Given the description of an element on the screen output the (x, y) to click on. 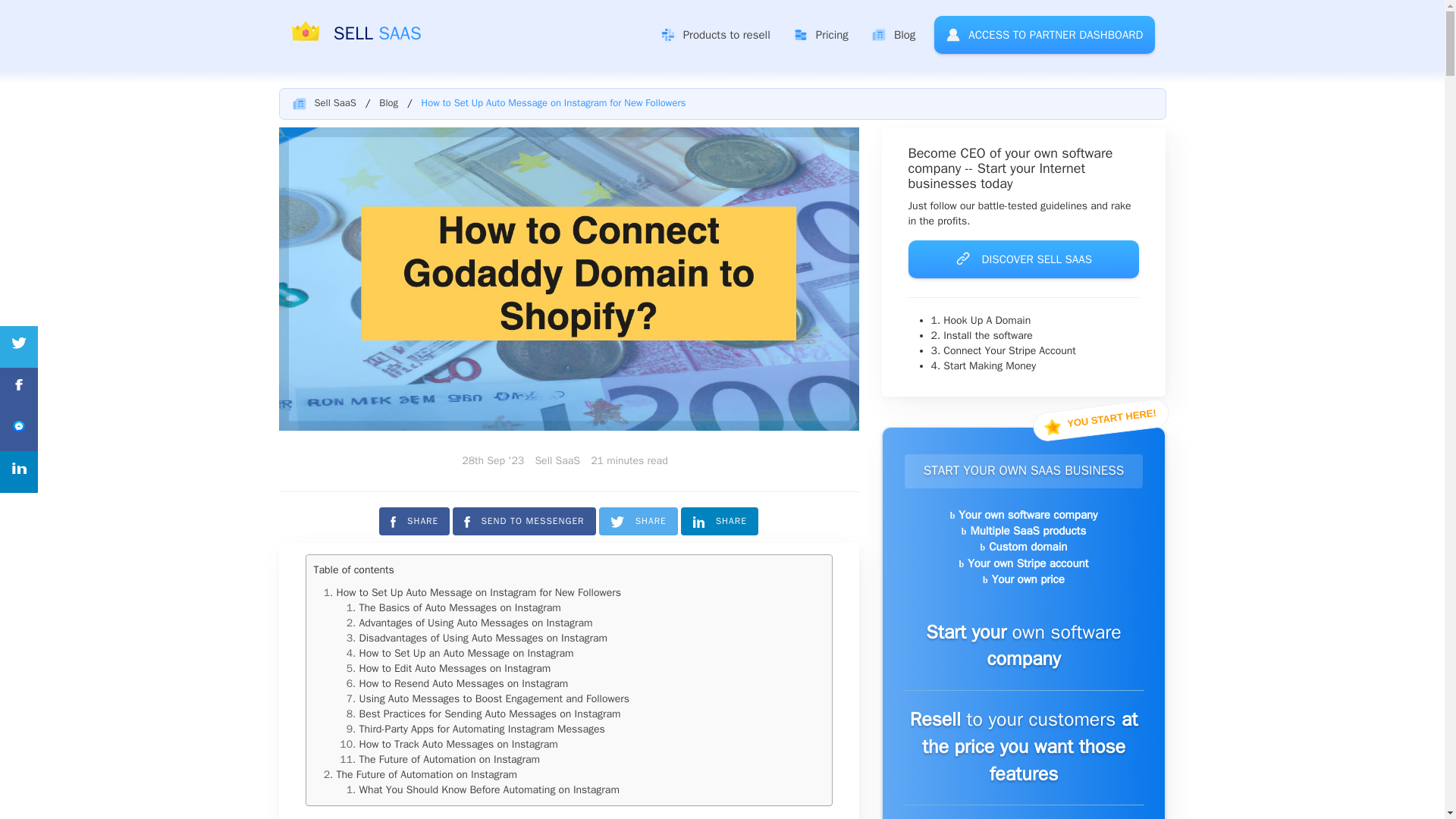
The Future of Automation on Instagram (449, 758)
Advantages of Using Auto Messages on Instagram (475, 622)
How to Edit Auto Messages on Instagram (455, 667)
SEND TO MESSENGER (523, 520)
Disadvantages of Using Auto Messages on Instagram (483, 637)
Sell SaaS (334, 102)
How to Resend Auto Messages on Instagram (464, 683)
SHARE (413, 520)
How to Set Up an Auto Message on Instagram (466, 653)
How to Track Auto Messages on Instagram (458, 744)
